Given the description of an element on the screen output the (x, y) to click on. 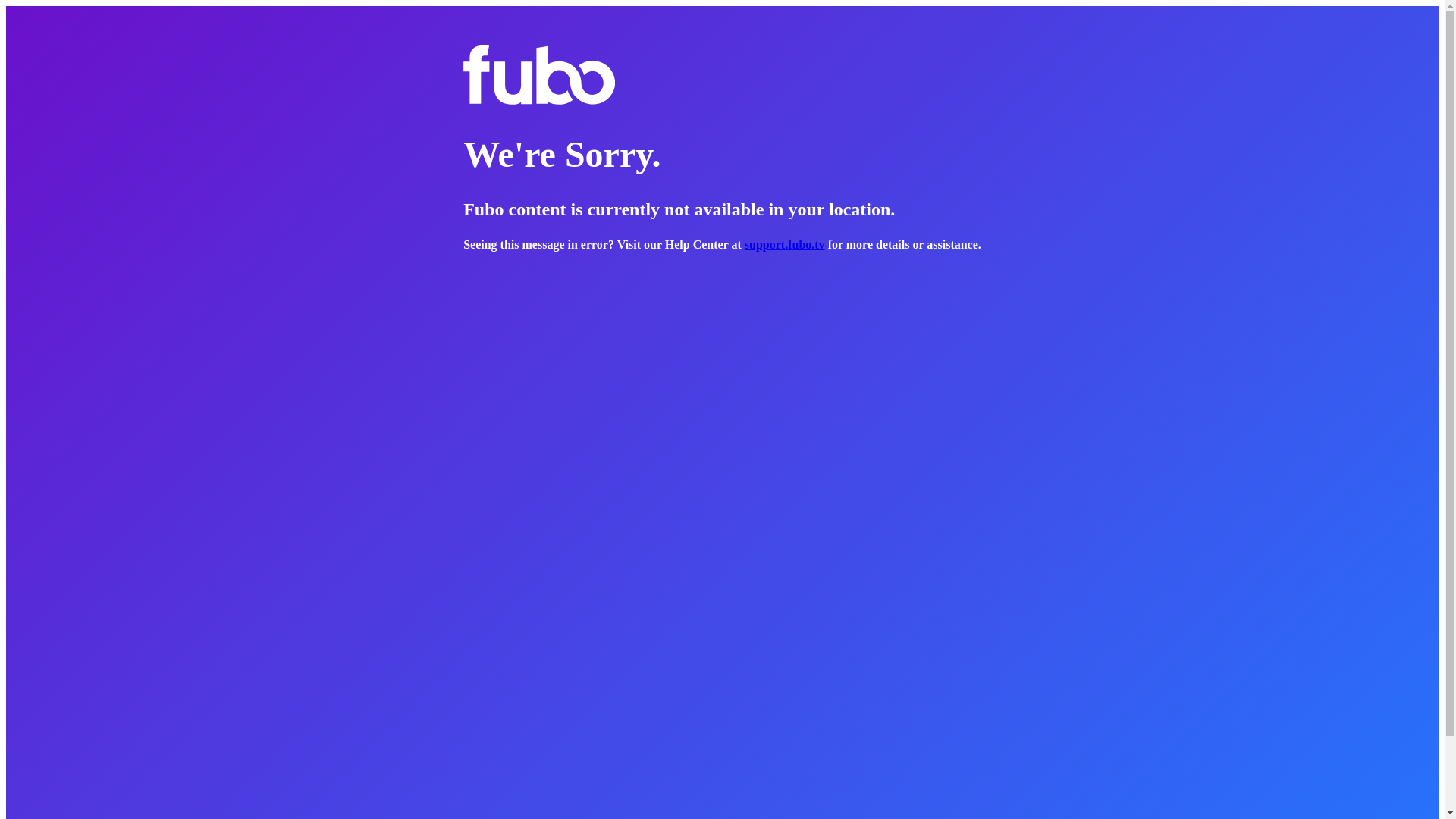
fubo logo (538, 75)
support.fubo.tv (784, 244)
